Given the description of an element on the screen output the (x, y) to click on. 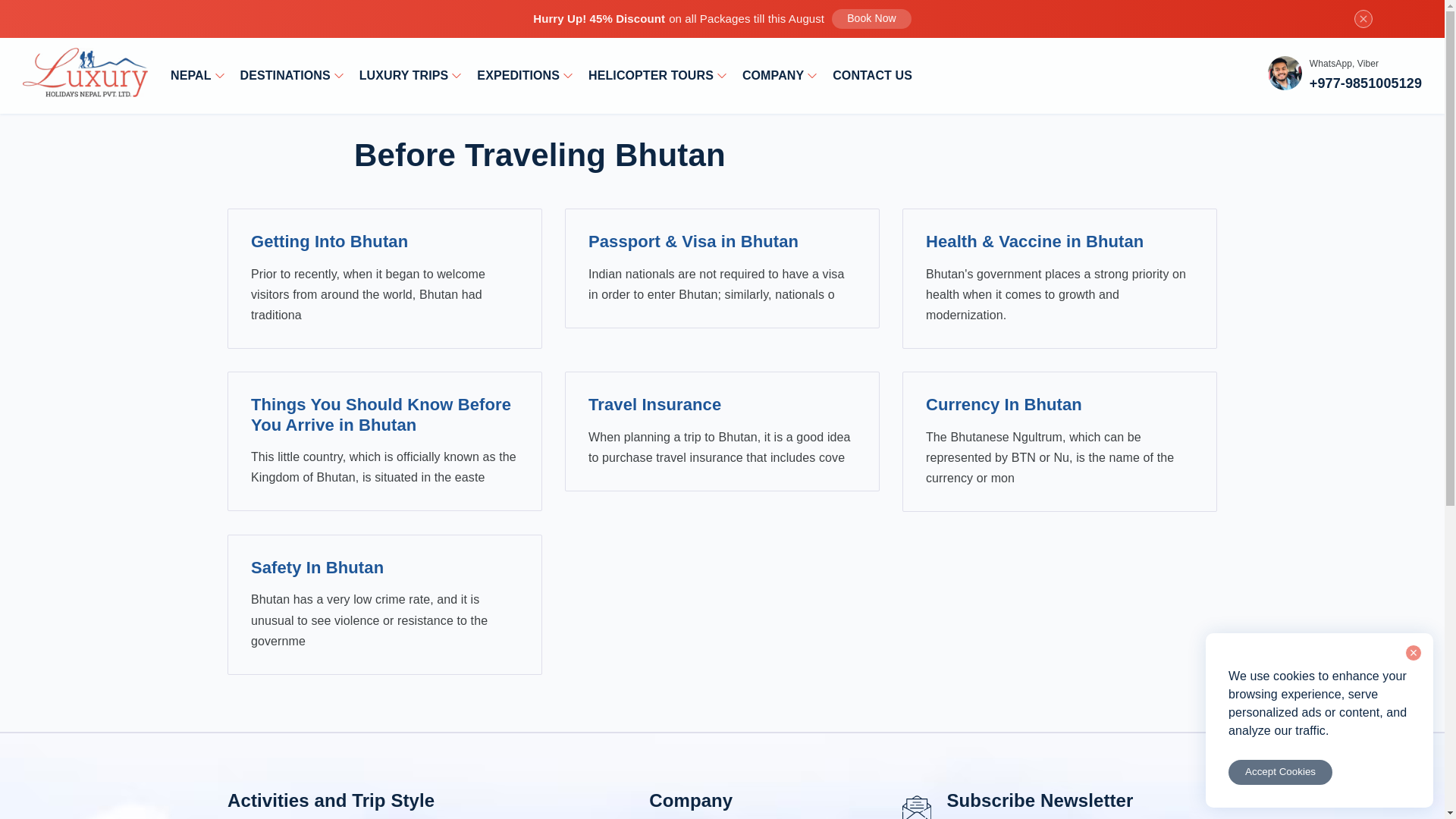
Book Now (871, 18)
